Given the description of an element on the screen output the (x, y) to click on. 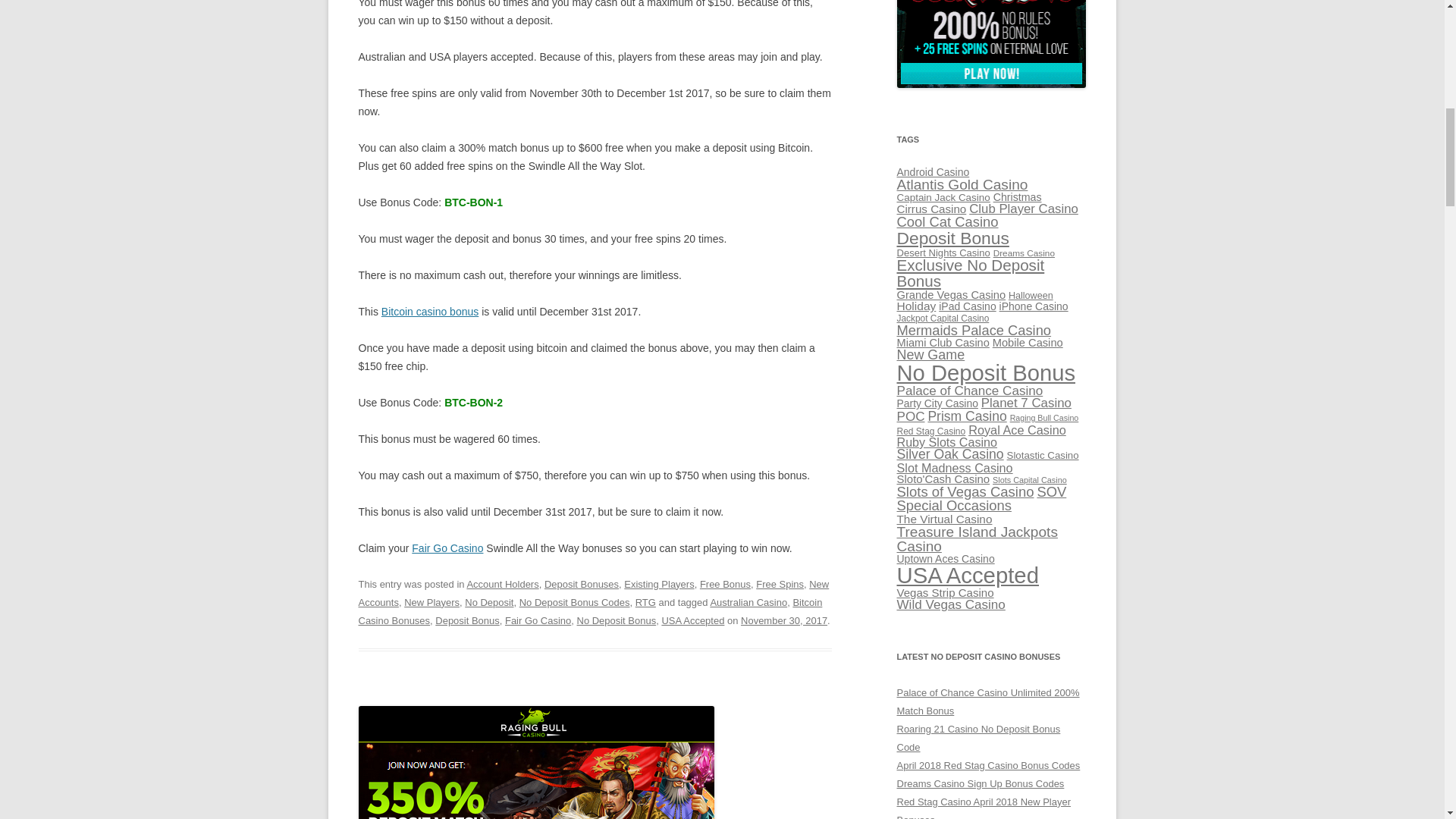
4:13 pm (784, 620)
